Given the description of an element on the screen output the (x, y) to click on. 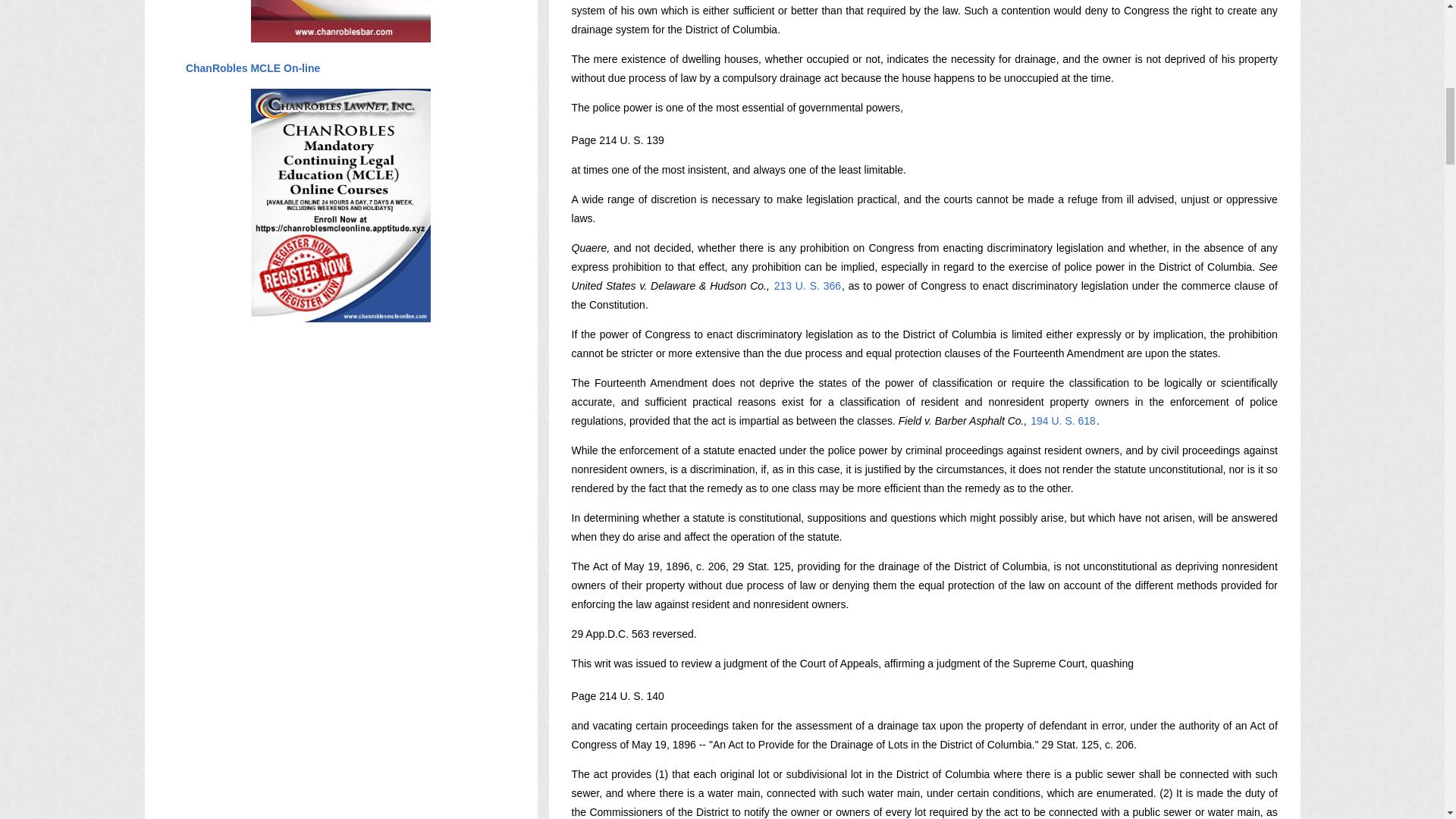
Page 214 U. S. 139 (617, 140)
Page 214 U. S. 140 (617, 695)
194 U. S. 618 (1062, 420)
213 U. S. 366 (807, 285)
